Given the description of an element on the screen output the (x, y) to click on. 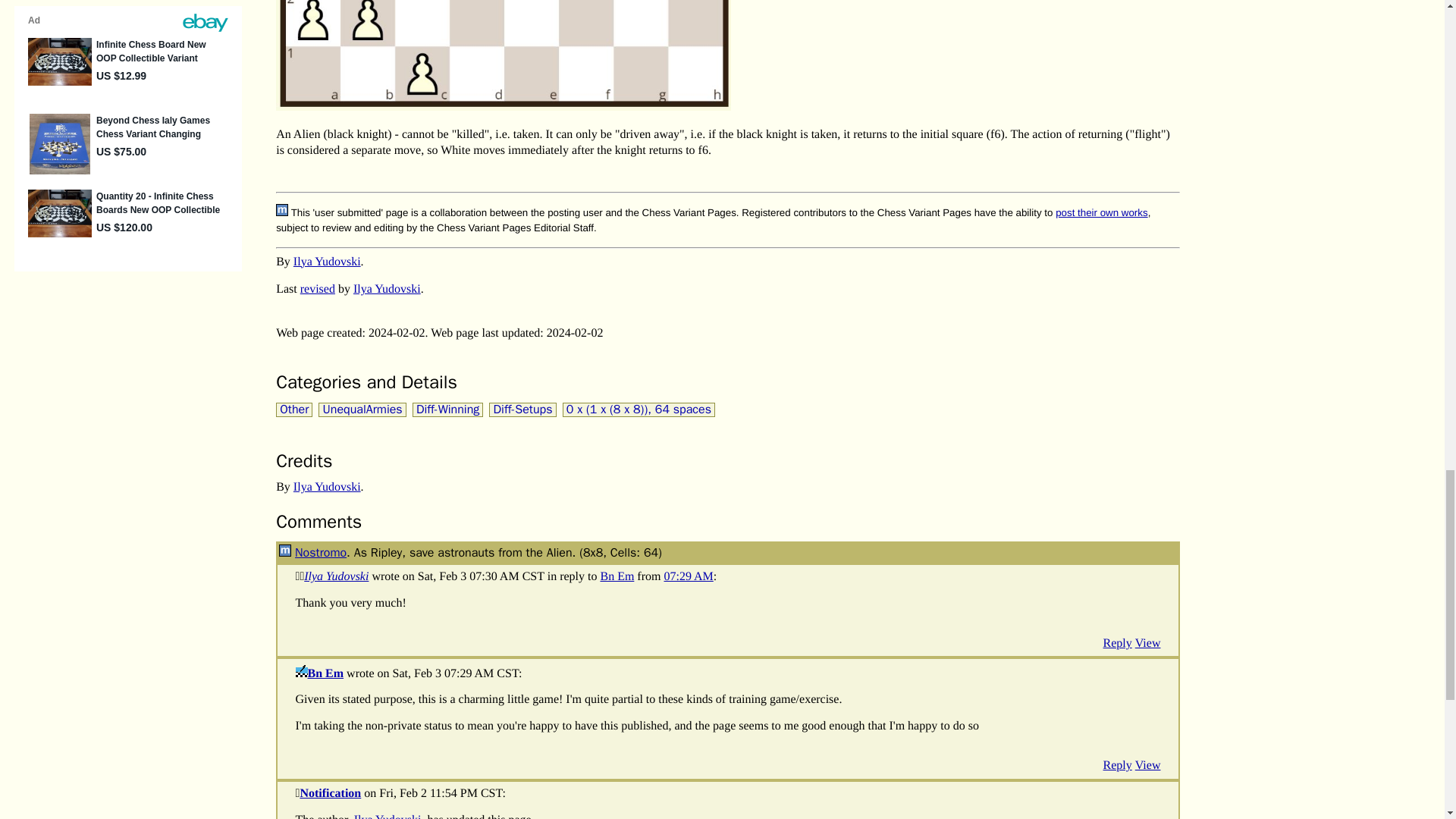
View (1147, 643)
Reply (1117, 766)
Ilya Yudovski (327, 486)
View (1147, 766)
Reply (1117, 643)
Bn Em (616, 576)
Ilya Yudovski (327, 261)
Diff-Setups (522, 409)
Ilya Yudovski (387, 816)
07:29 AM (688, 576)
Nostromo (320, 552)
Diff-Winning (447, 409)
Ilya Yudovski (386, 288)
Bn Em (285, 550)
